Given the description of an element on the screen output the (x, y) to click on. 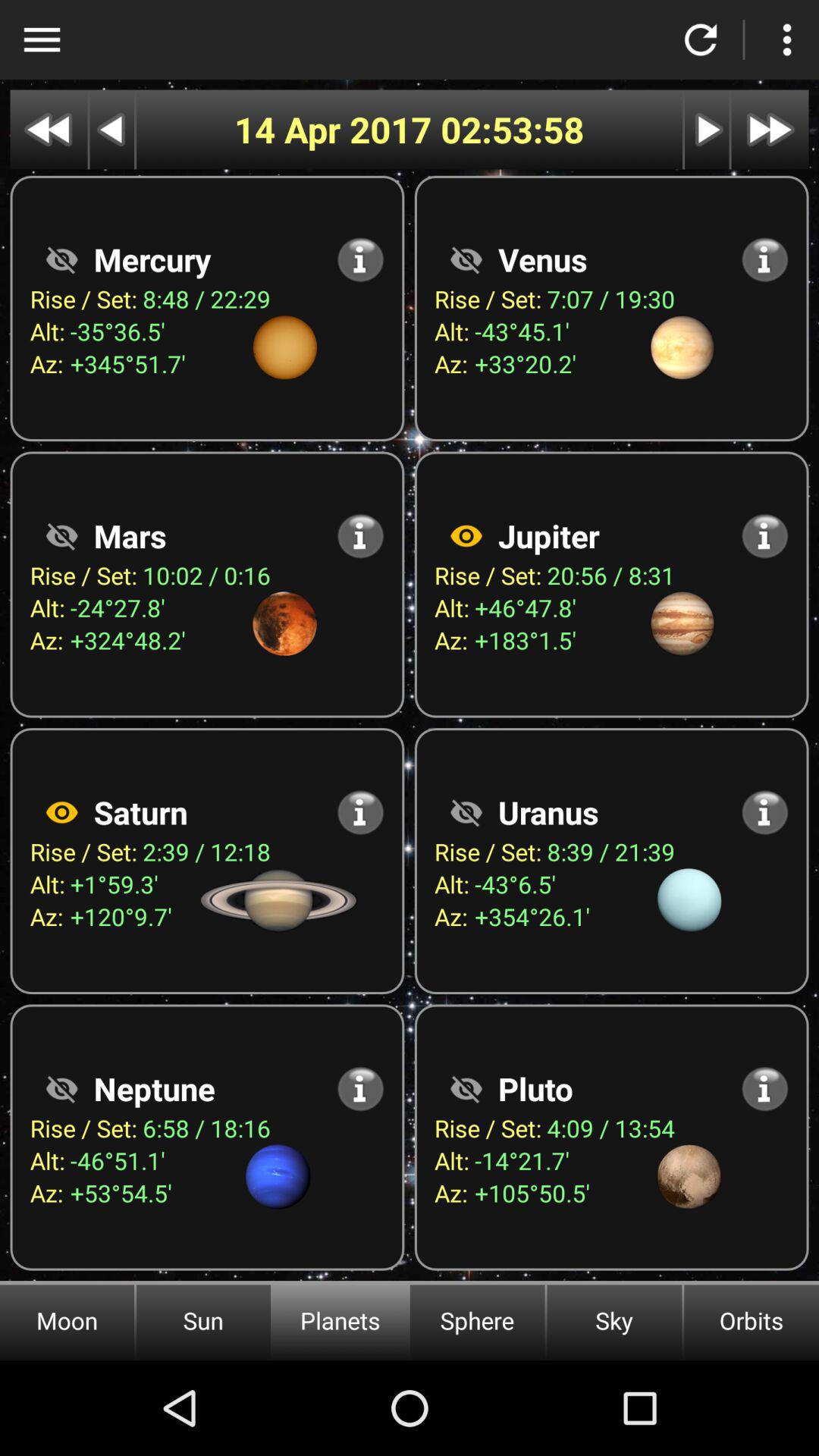
information (360, 812)
